Given the description of an element on the screen output the (x, y) to click on. 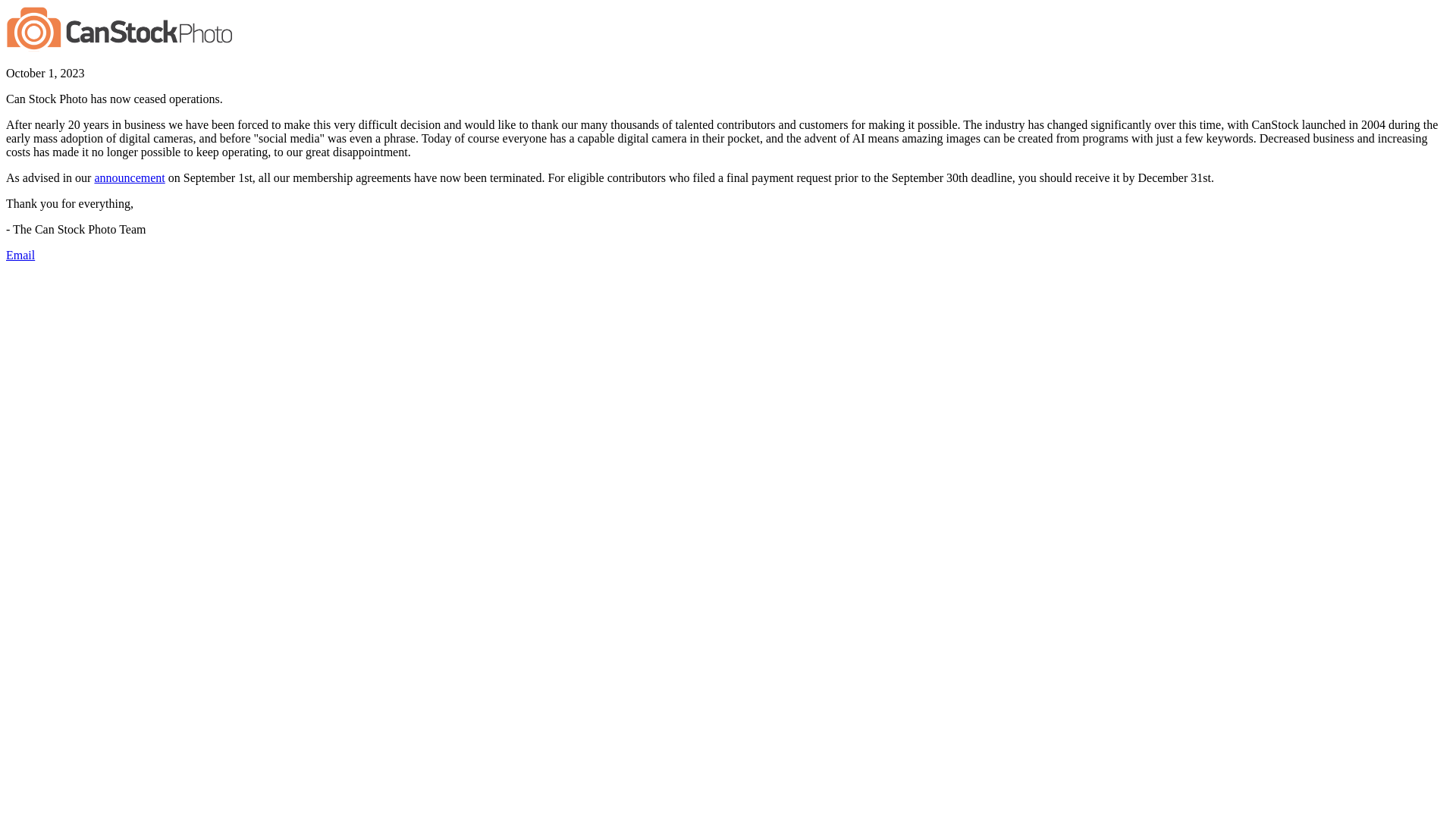
Email Element type: text (20, 254)
announcement Element type: text (129, 177)
